Given the description of an element on the screen output the (x, y) to click on. 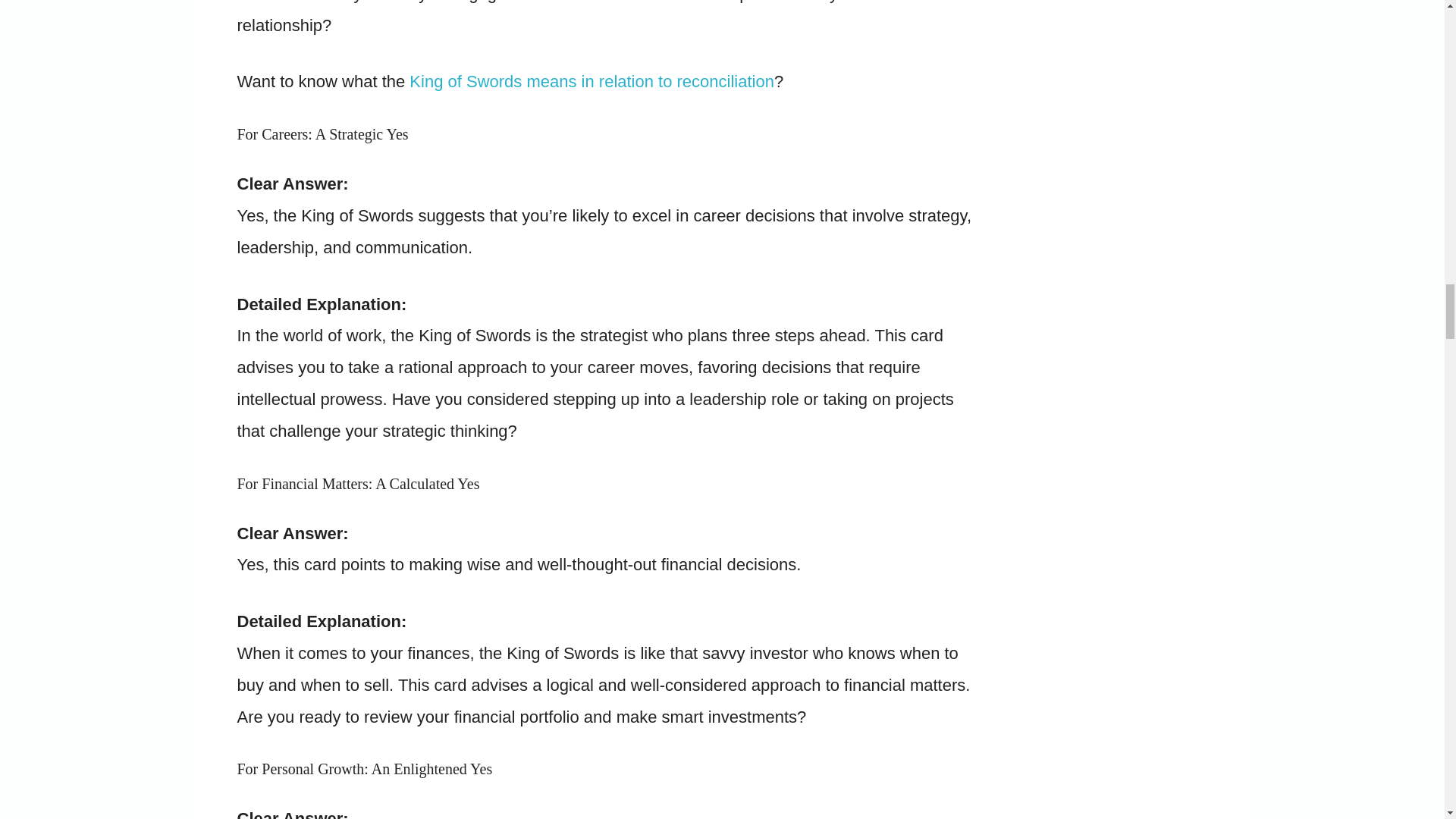
King of Swords means in relation to reconciliation (591, 81)
